Given the description of an element on the screen output the (x, y) to click on. 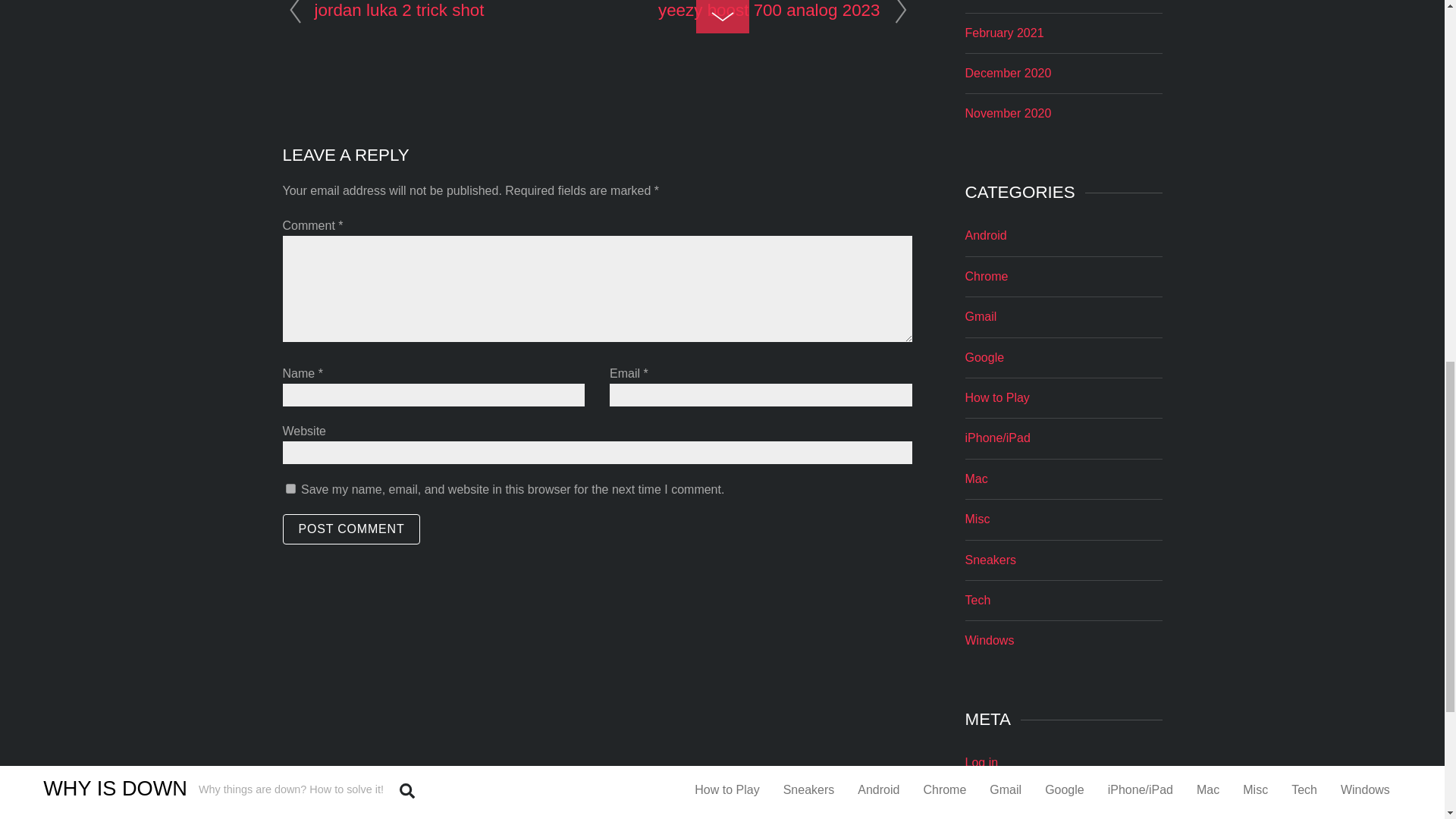
Chrome (985, 276)
November 2020 (1007, 113)
February 2021 (1003, 32)
Post Comment (351, 529)
yes (290, 488)
Android (984, 235)
jordan luka 2 trick shot (398, 9)
Post Comment (351, 529)
December 2020 (1007, 72)
yeezy boost 700 analog 2023 (769, 9)
